Given the description of an element on the screen output the (x, y) to click on. 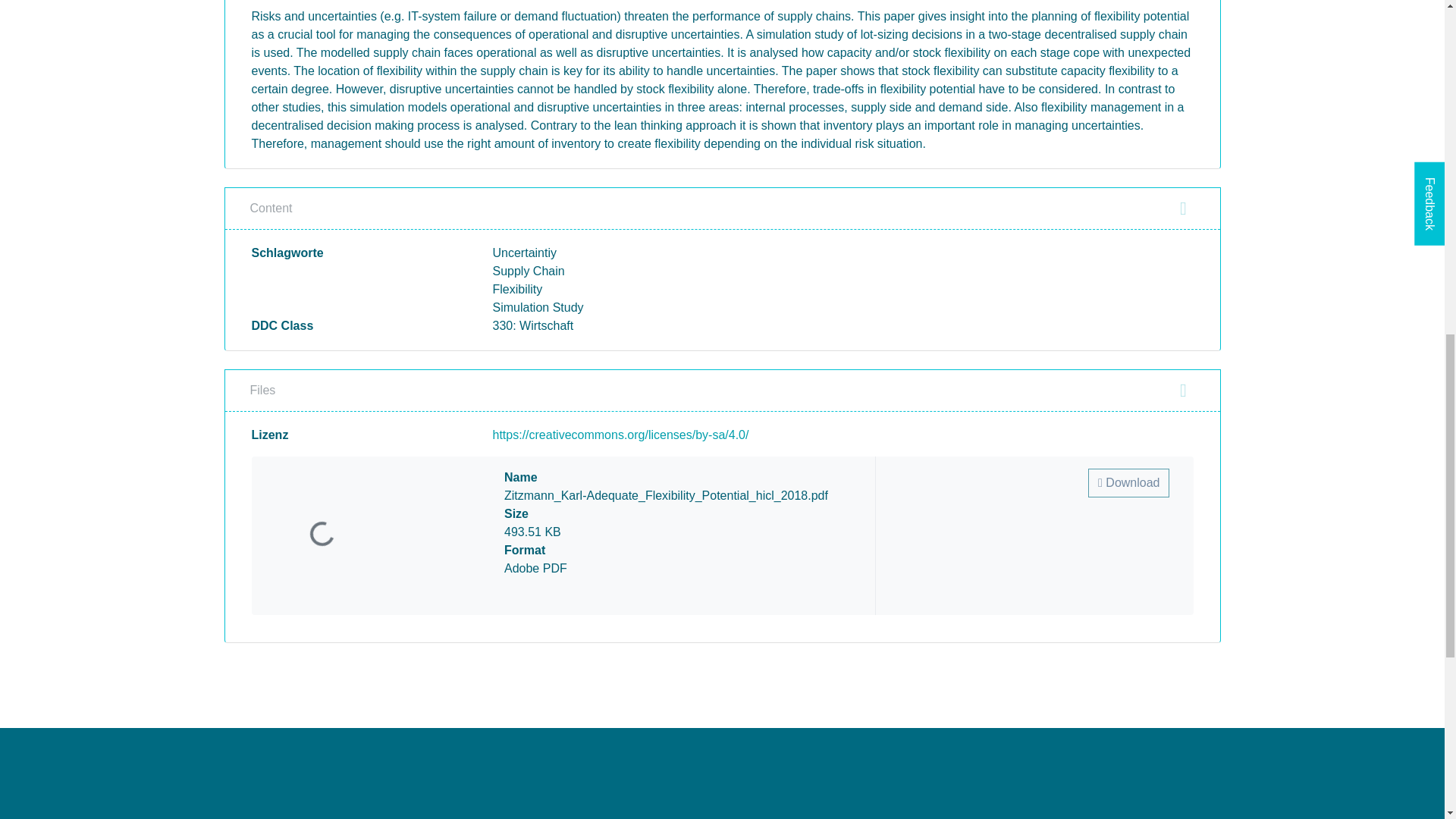
Close section (1183, 390)
Close section (1183, 208)
